Given the description of an element on the screen output the (x, y) to click on. 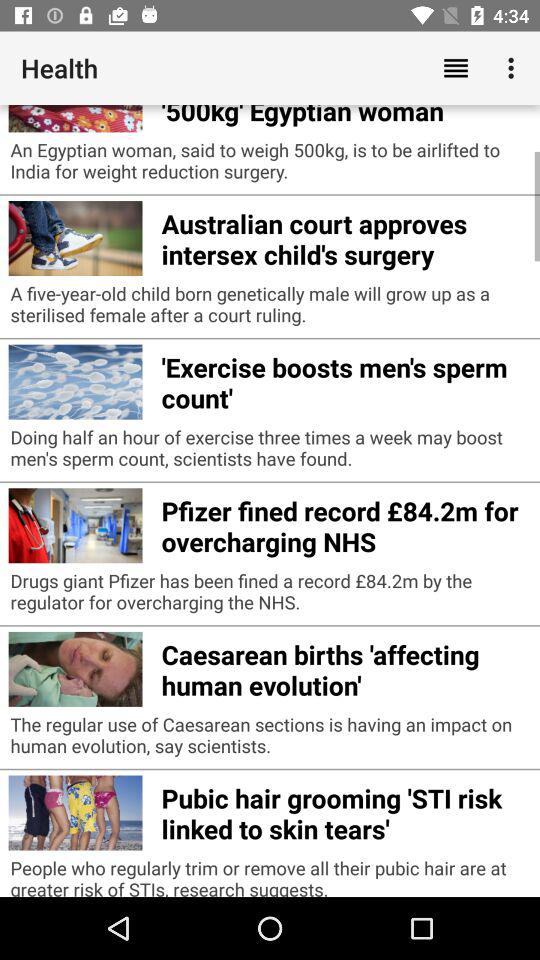
swipe to drugs giant pfizer icon (270, 596)
